Given the description of an element on the screen output the (x, y) to click on. 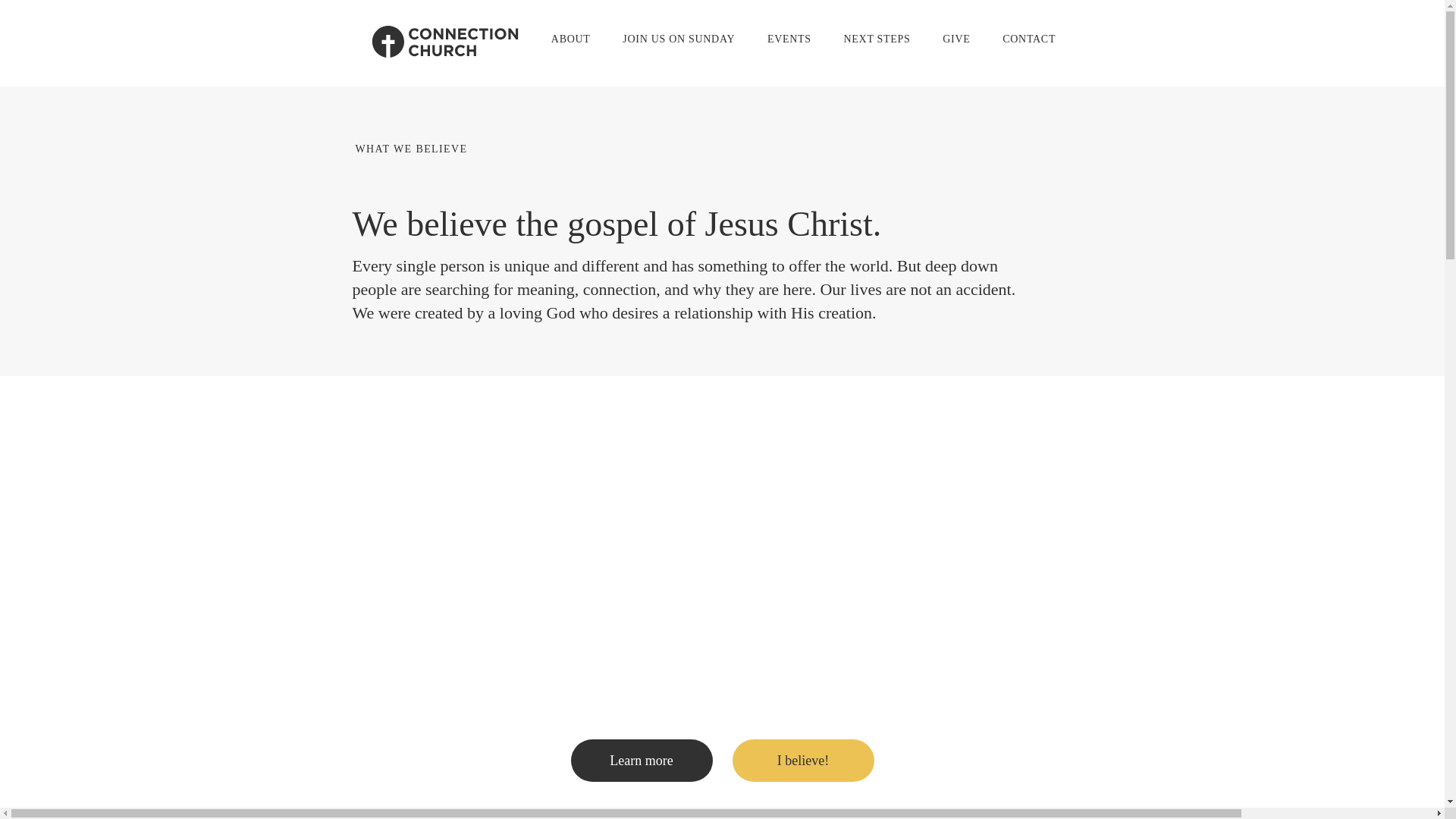
EVENTS (789, 39)
CONTACT (1029, 39)
Learn more (641, 760)
I believe! (802, 760)
GIVE (957, 39)
NEXT STEPS (876, 39)
JOIN US ON SUNDAY (679, 39)
